Given the description of an element on the screen output the (x, y) to click on. 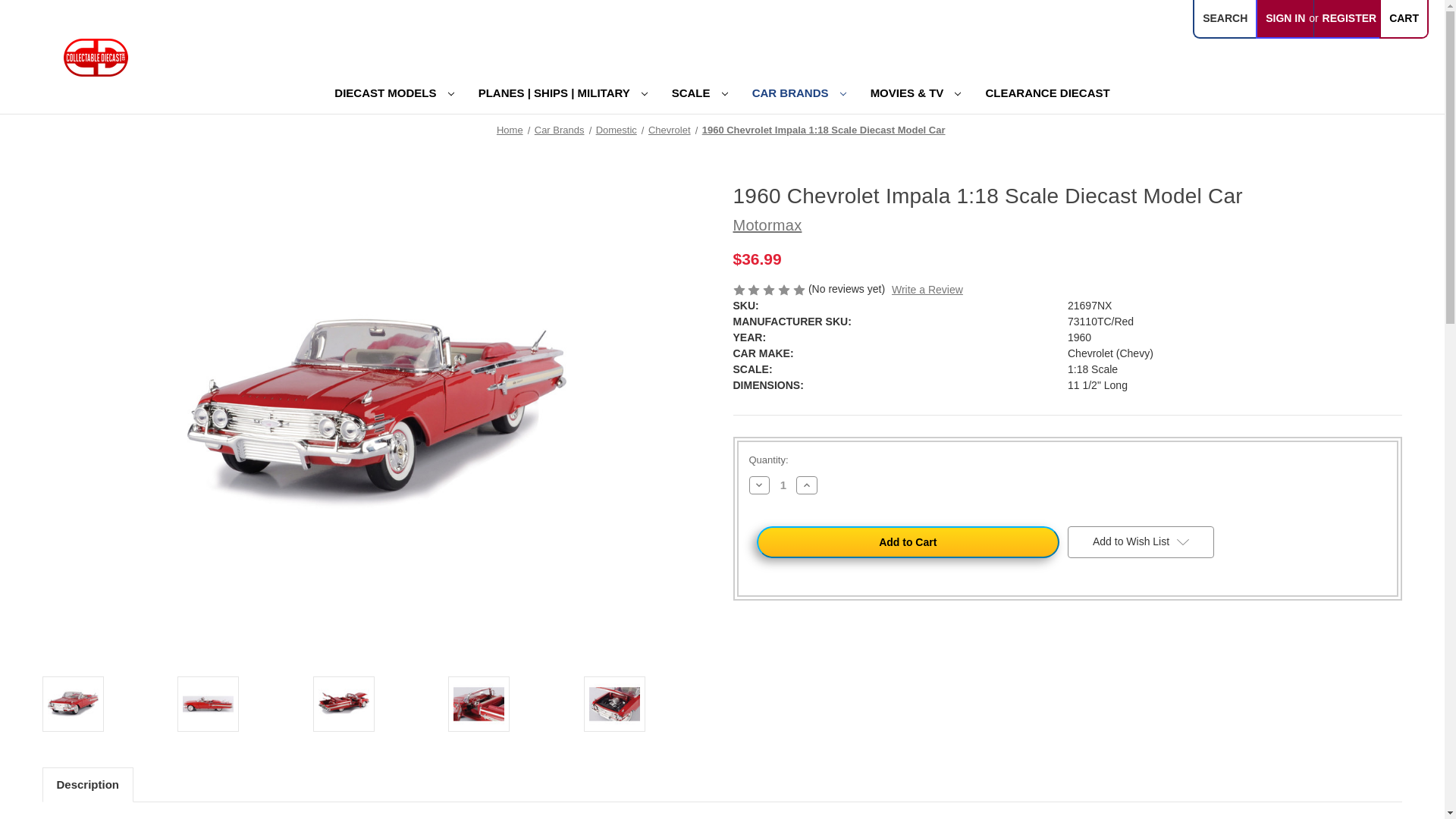
1960 Chevrolet Impala Alt Image 2 (343, 703)
Add to Cart (908, 541)
1960 Chevrolet Impala Alt Image 3 (477, 703)
SIGN IN (1285, 18)
REGISTER (1350, 18)
1960 Chevrolet Impala Alt Image 4 (614, 703)
1 (783, 484)
DIECAST MODELS (393, 94)
Collectable Diecast (95, 57)
CART (1403, 18)
